Given the description of an element on the screen output the (x, y) to click on. 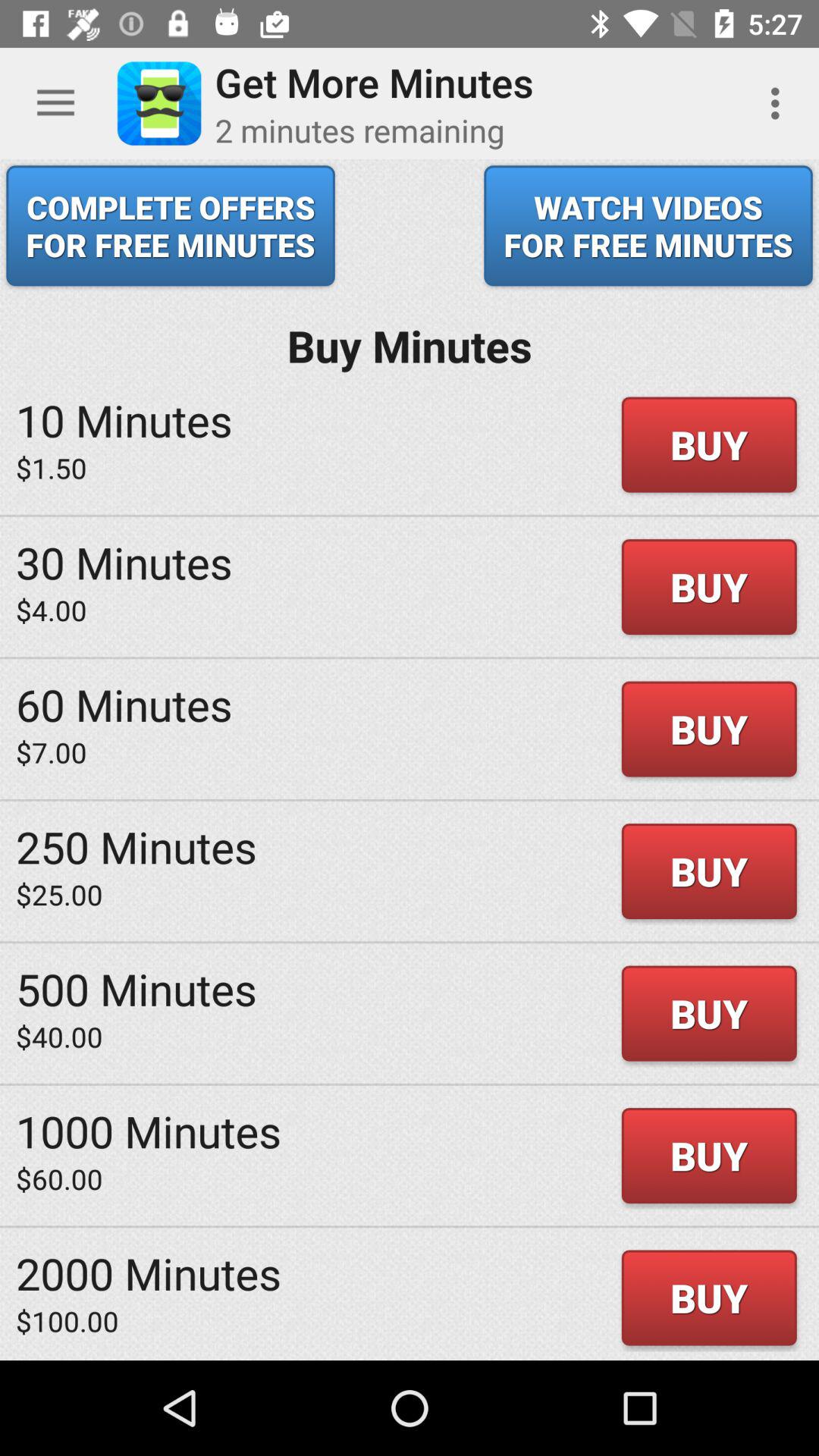
flip to the 250 minutes (136, 846)
